Given the description of an element on the screen output the (x, y) to click on. 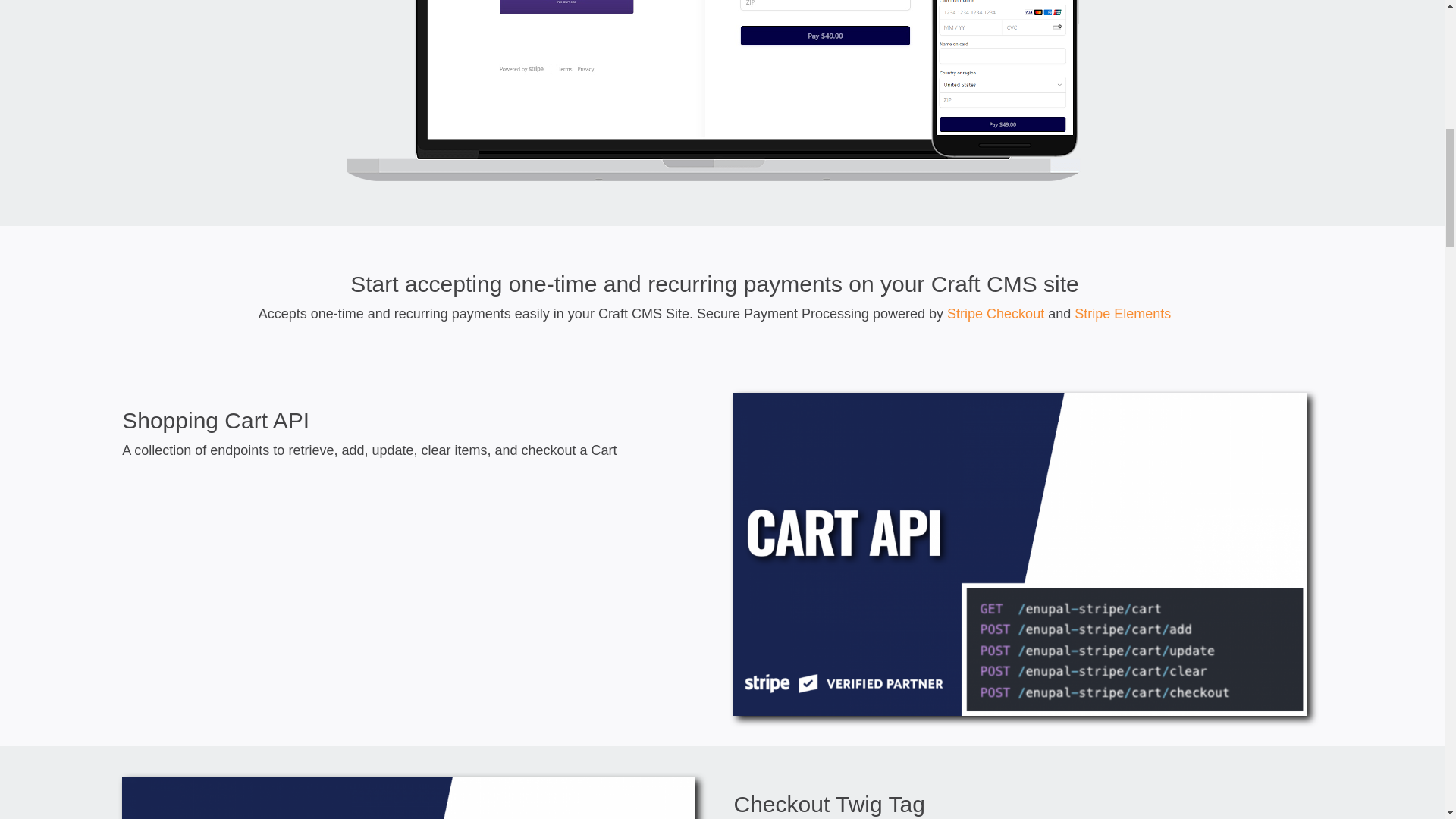
Stripe Elements (1122, 313)
Stripe Checkout (995, 313)
